Given the description of an element on the screen output the (x, y) to click on. 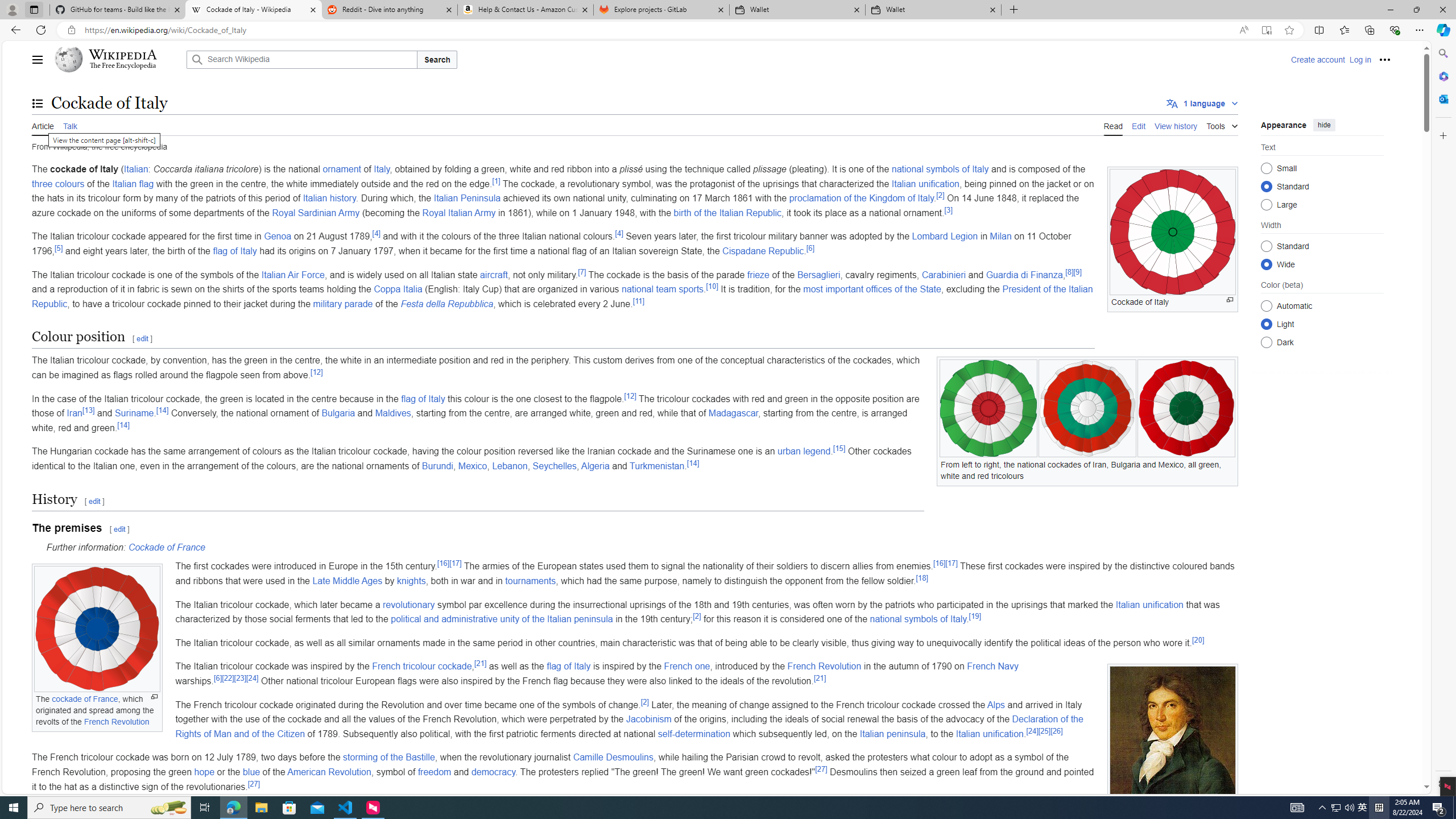
Tools (1222, 124)
Seychelles (554, 466)
hope (204, 771)
birth of the Italian Republic (726, 212)
Carabinieri (943, 274)
[8] (1069, 271)
Milan (1000, 236)
Iran (74, 413)
[17] (951, 563)
Lombard Legion (944, 236)
Italian Peninsula (466, 198)
Class: mw-list-item mw-list-item-js (1321, 323)
[3] (947, 209)
